Given the description of an element on the screen output the (x, y) to click on. 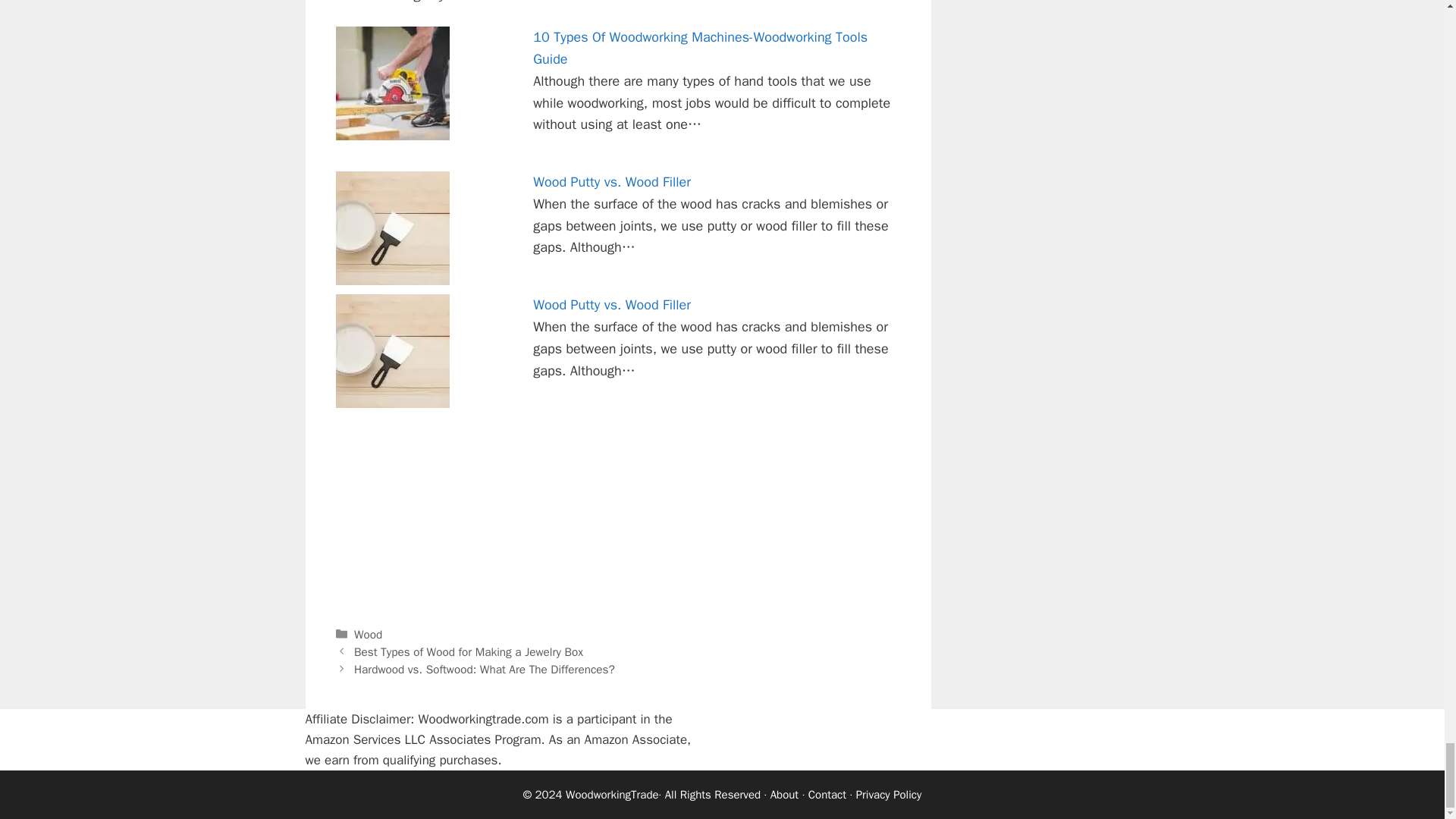
Best Types of Wood for Making a Jewelry Box (468, 652)
VirtualWolf (480, 1)
10 Types Of Woodworking Machines-Woodworking Tools Guide (699, 47)
Wood Putty vs. Wood Filler (611, 304)
Go to VirtualWolf's photostream (480, 1)
Wood (367, 634)
Wood Putty vs. Wood Filler (611, 181)
Hardwood vs. Softwood: What Are The Differences? (483, 669)
